Given the description of an element on the screen output the (x, y) to click on. 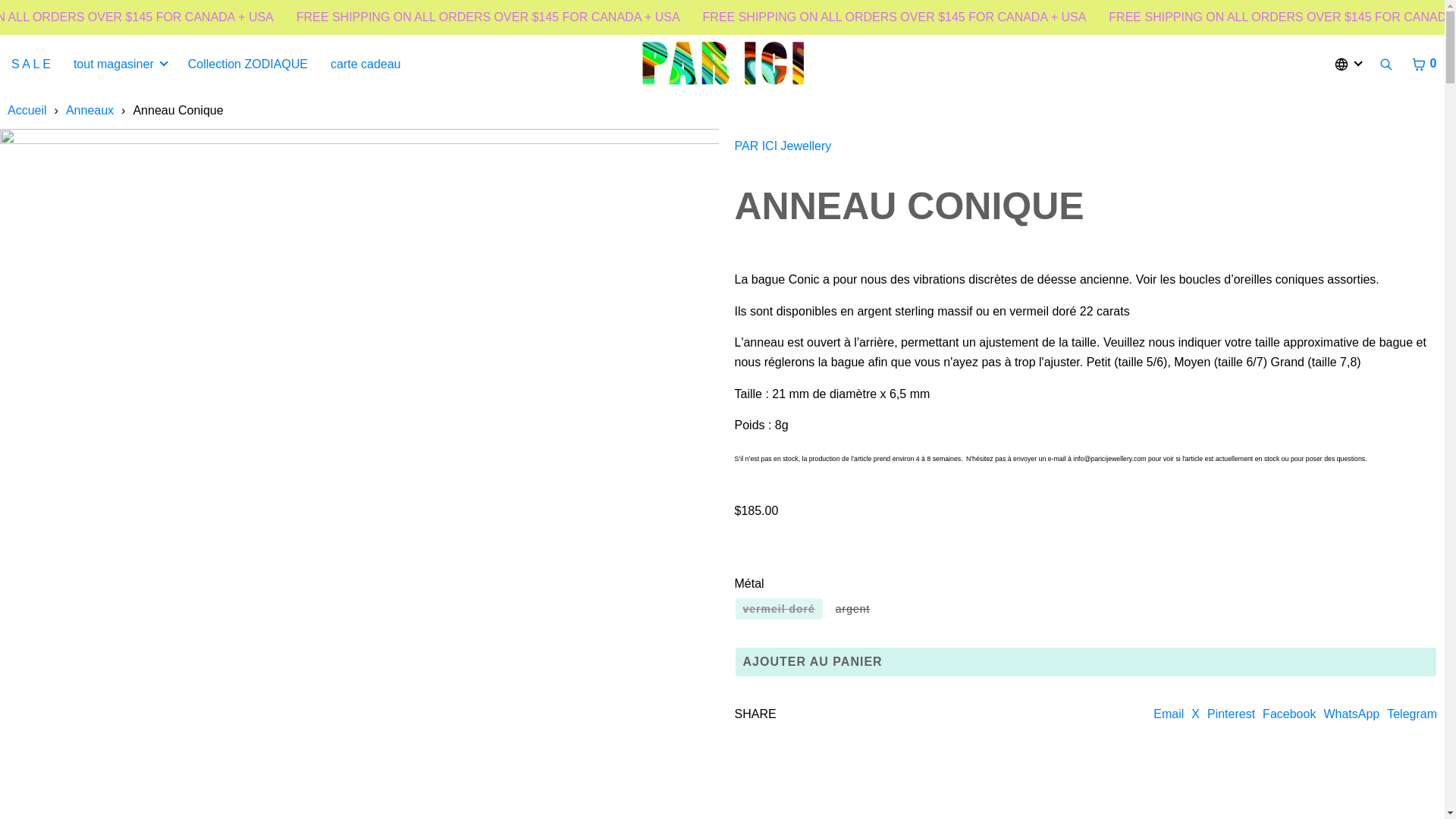
Accueil (26, 110)
Accueil (26, 110)
carte cadeau (365, 63)
Anneaux (89, 110)
Langue (1347, 63)
FERMER (1426, 56)
PAR ICI Jewellery (782, 145)
S A L E (31, 63)
Recherche (1386, 63)
